Given the description of an element on the screen output the (x, y) to click on. 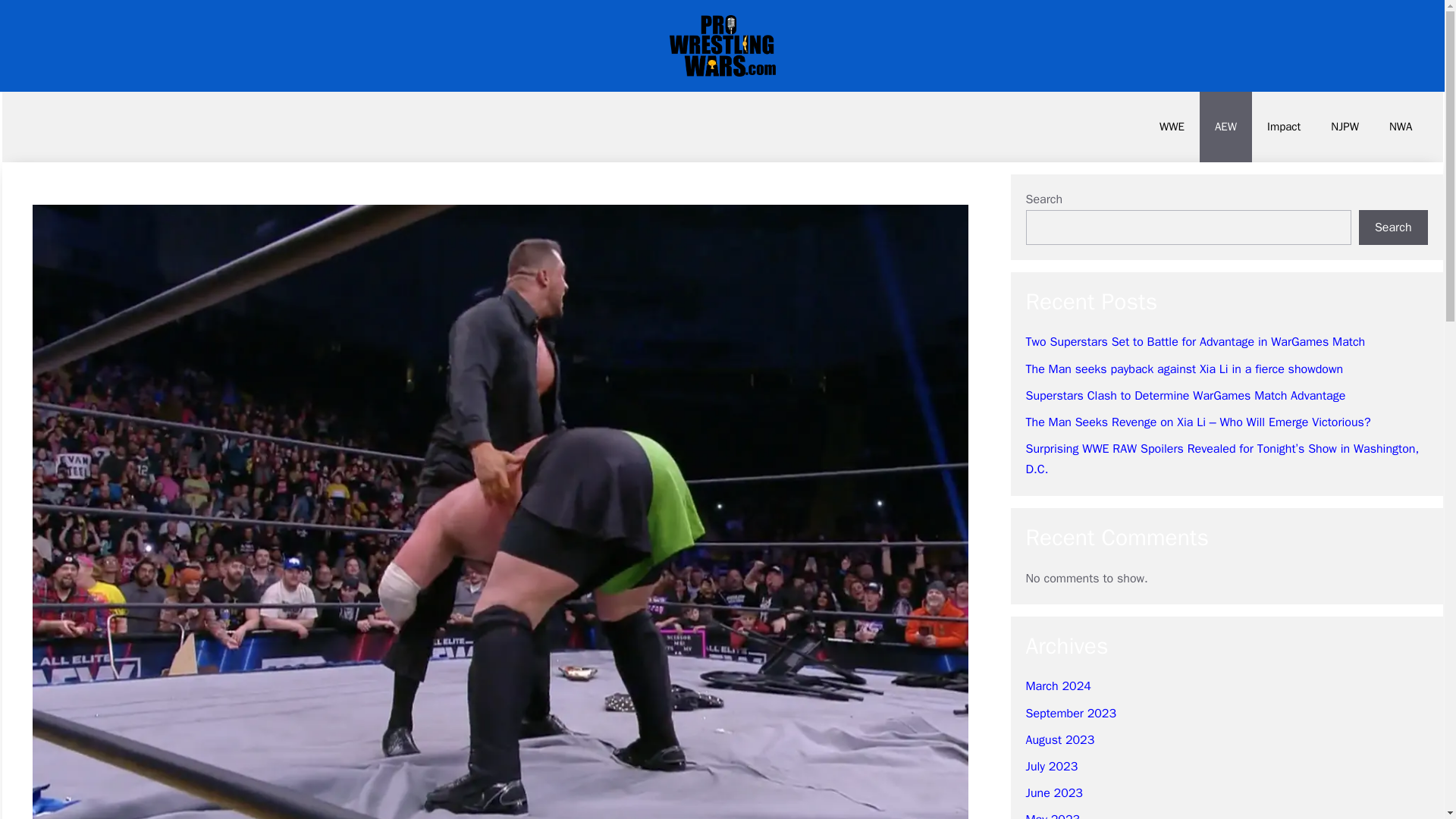
Superstars Clash to Determine WarGames Match Advantage (1185, 395)
July 2023 (1051, 766)
August 2023 (1059, 739)
Two Superstars Set to Battle for Advantage in WarGames Match (1195, 341)
June 2023 (1053, 792)
March 2024 (1057, 685)
The Man seeks payback against Xia Li in a fierce showdown (1183, 368)
September 2023 (1070, 712)
Impact (1284, 126)
May 2023 (1052, 815)
